Given the description of an element on the screen output the (x, y) to click on. 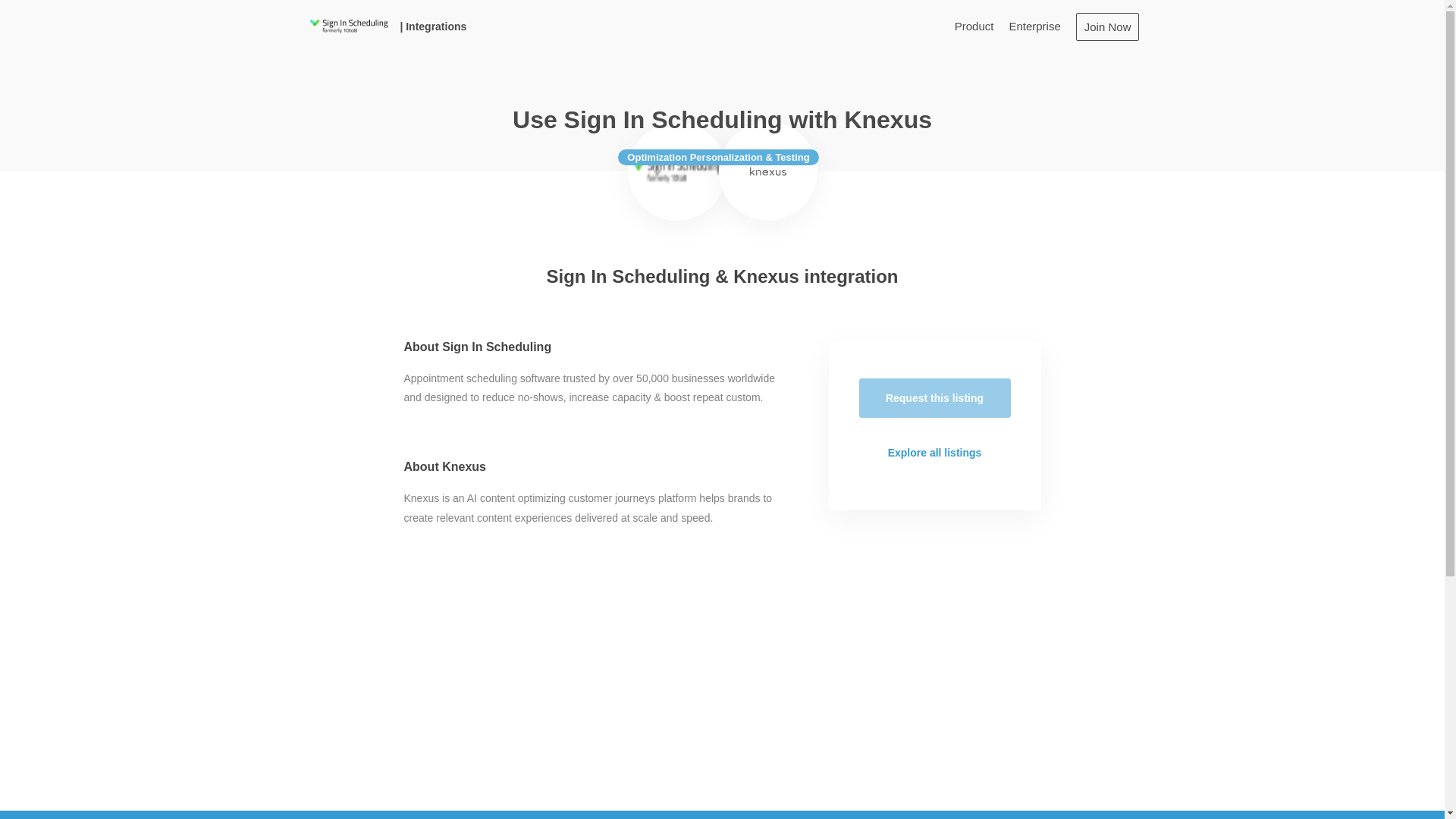
Request this listing (934, 397)
Explore all listings (934, 452)
Enterprise (1034, 25)
Product (974, 25)
Join Now (1107, 26)
Knexus (768, 171)
Sign In Scheduling (676, 171)
Sign In Scheduling (347, 26)
